Given the description of an element on the screen output the (x, y) to click on. 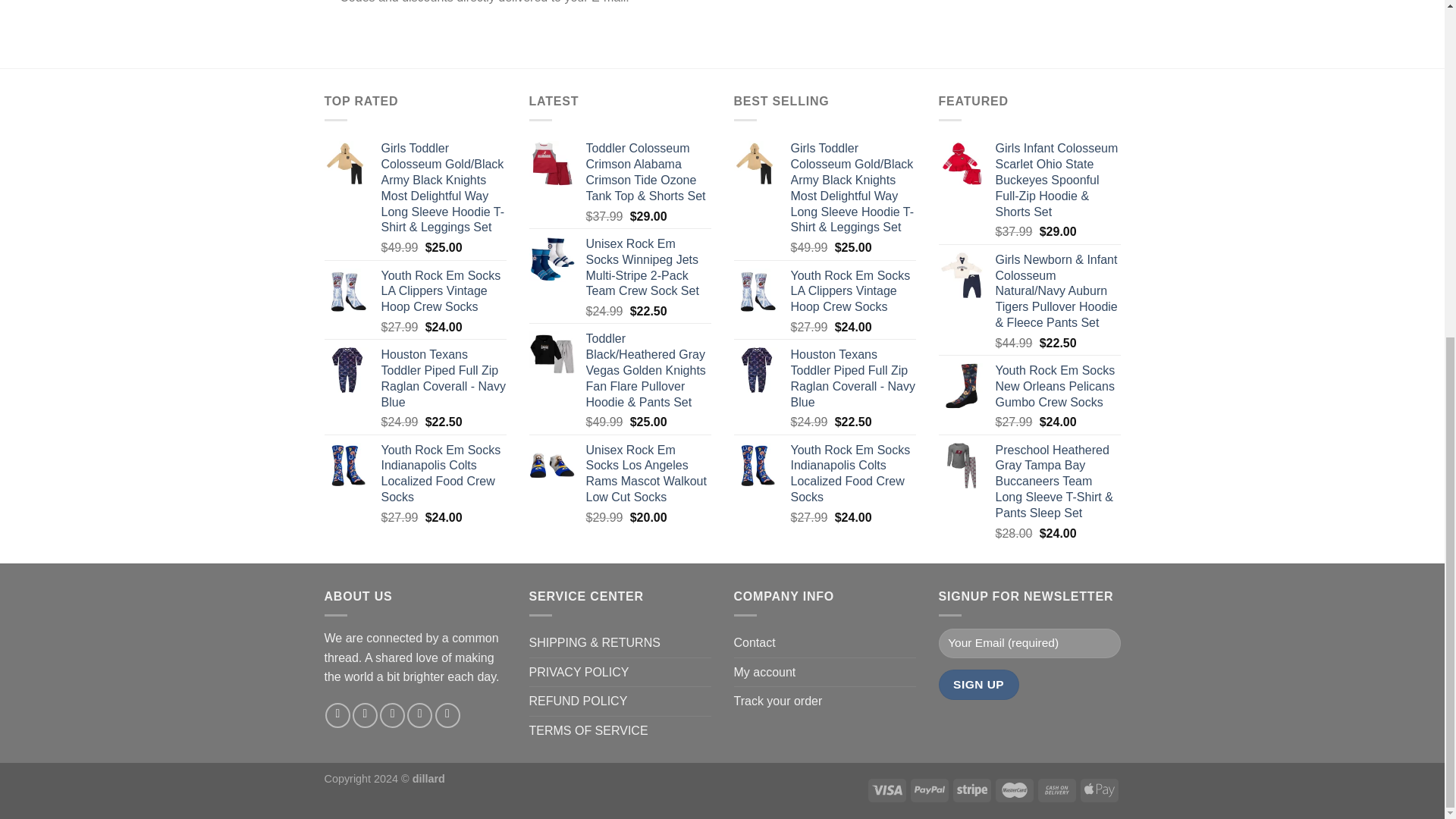
Follow on Twitter (392, 715)
Follow on Facebook (337, 715)
Sign Up (979, 684)
Follow on Pinterest (447, 715)
Send us an email (419, 715)
Youth Rock Em Socks LA Clippers Vintage Hoop Crew Socks (852, 291)
Youth Rock Em Socks LA Clippers Vintage Hoop Crew Socks (442, 291)
Youth Rock Em Socks New Orleans Pelicans Gumbo Crew Socks (1056, 386)
PRIVACY POLICY (578, 672)
Follow on Instagram (364, 715)
